Given the description of an element on the screen output the (x, y) to click on. 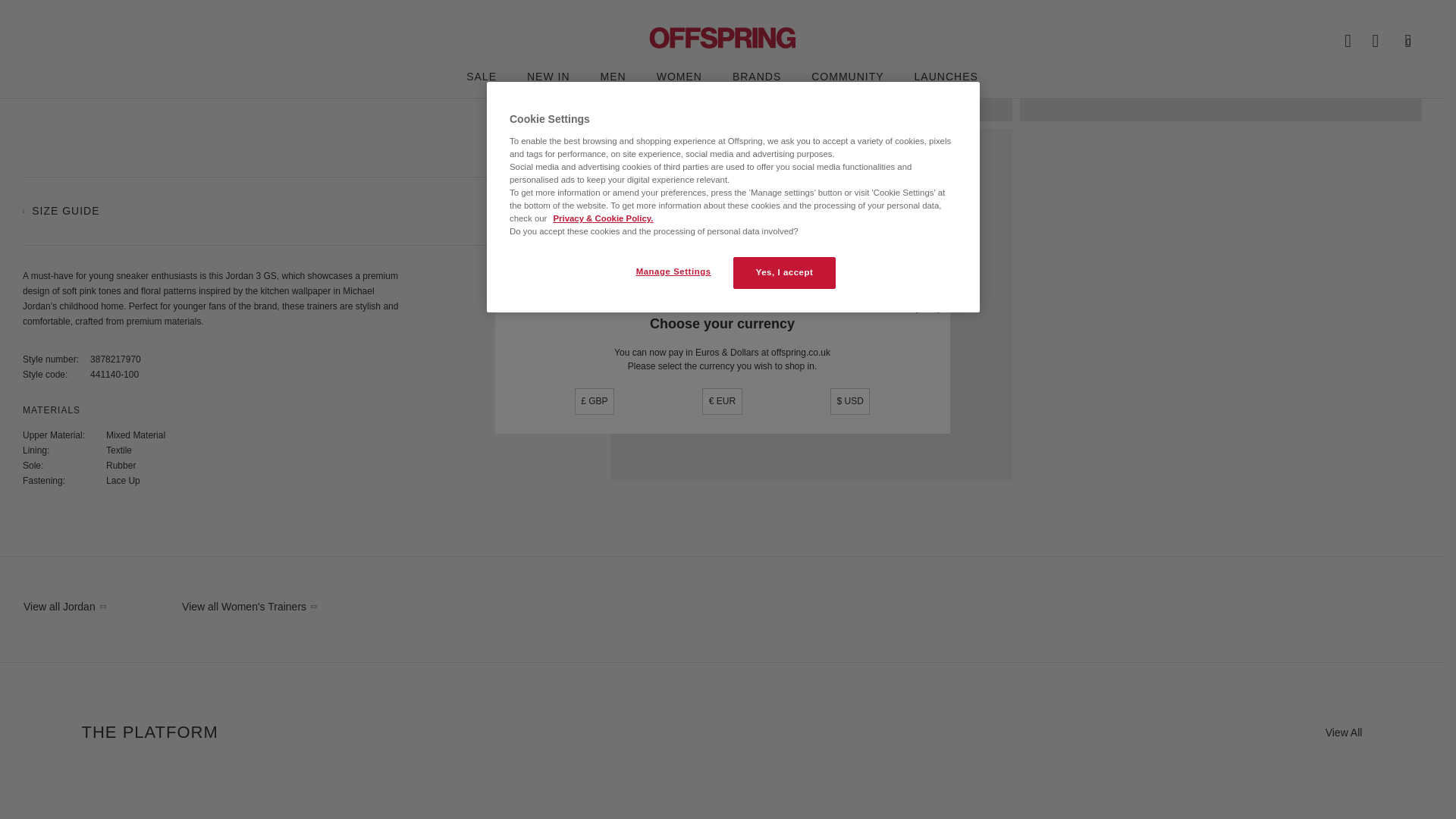
JordanJordan 3 GS Trainers  (1221, 60)
JordanJordan 3 GS Trainers  (810, 60)
